Given the description of an element on the screen output the (x, y) to click on. 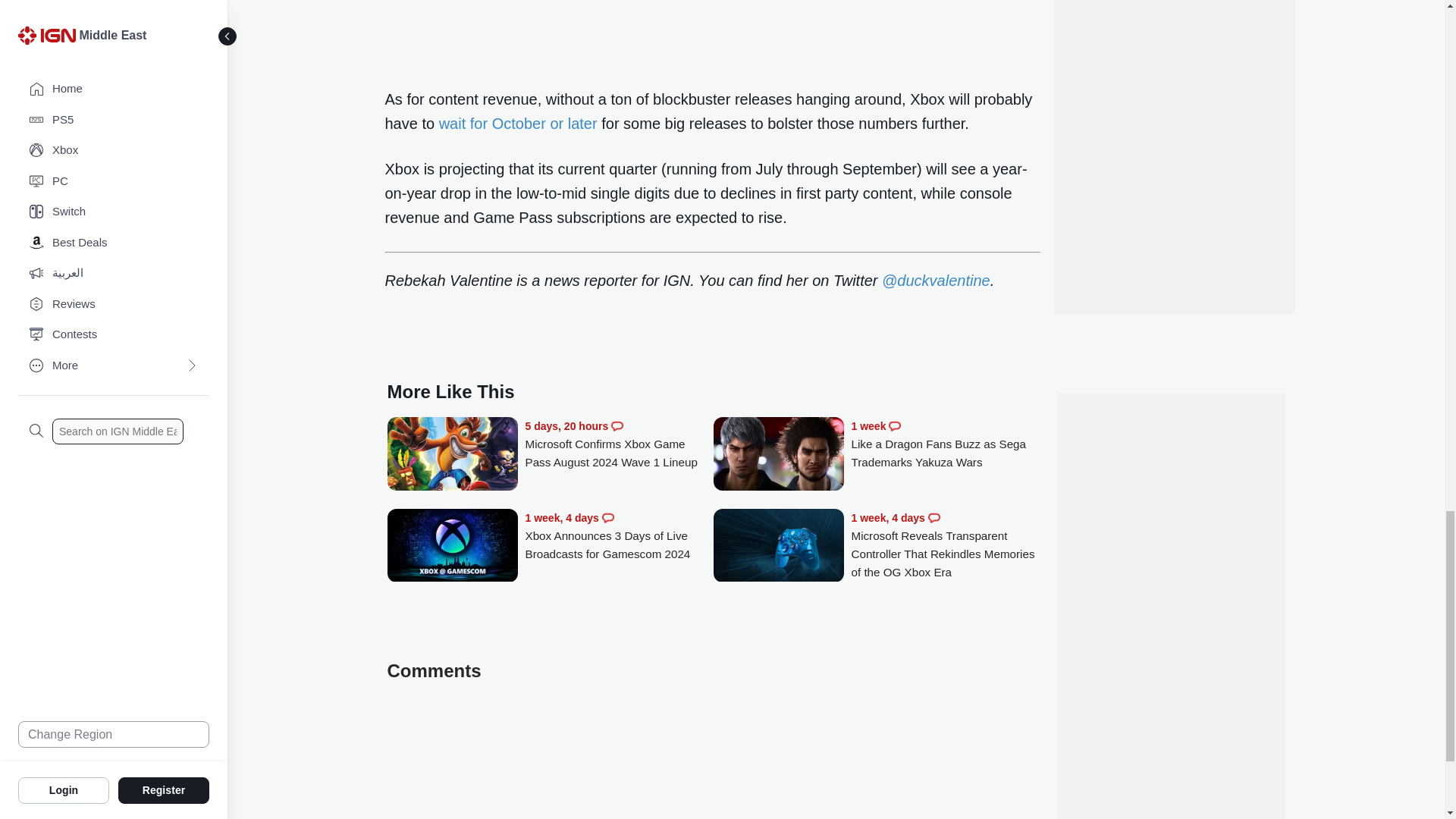
Comments (608, 517)
Xbox Announces 3 Days of Live Broadcasts for Gamescom 2024 (451, 546)
Like a Dragon Fans Buzz as Sega Trademarks Yakuza Wars (944, 444)
Xbox Announces 3 Days of Live Broadcasts for Gamescom 2024 (618, 536)
Comments (934, 517)
Comments (894, 426)
Comments (617, 426)
Like a Dragon Fans Buzz as Sega Trademarks Yakuza Wars (778, 454)
